Given the description of an element on the screen output the (x, y) to click on. 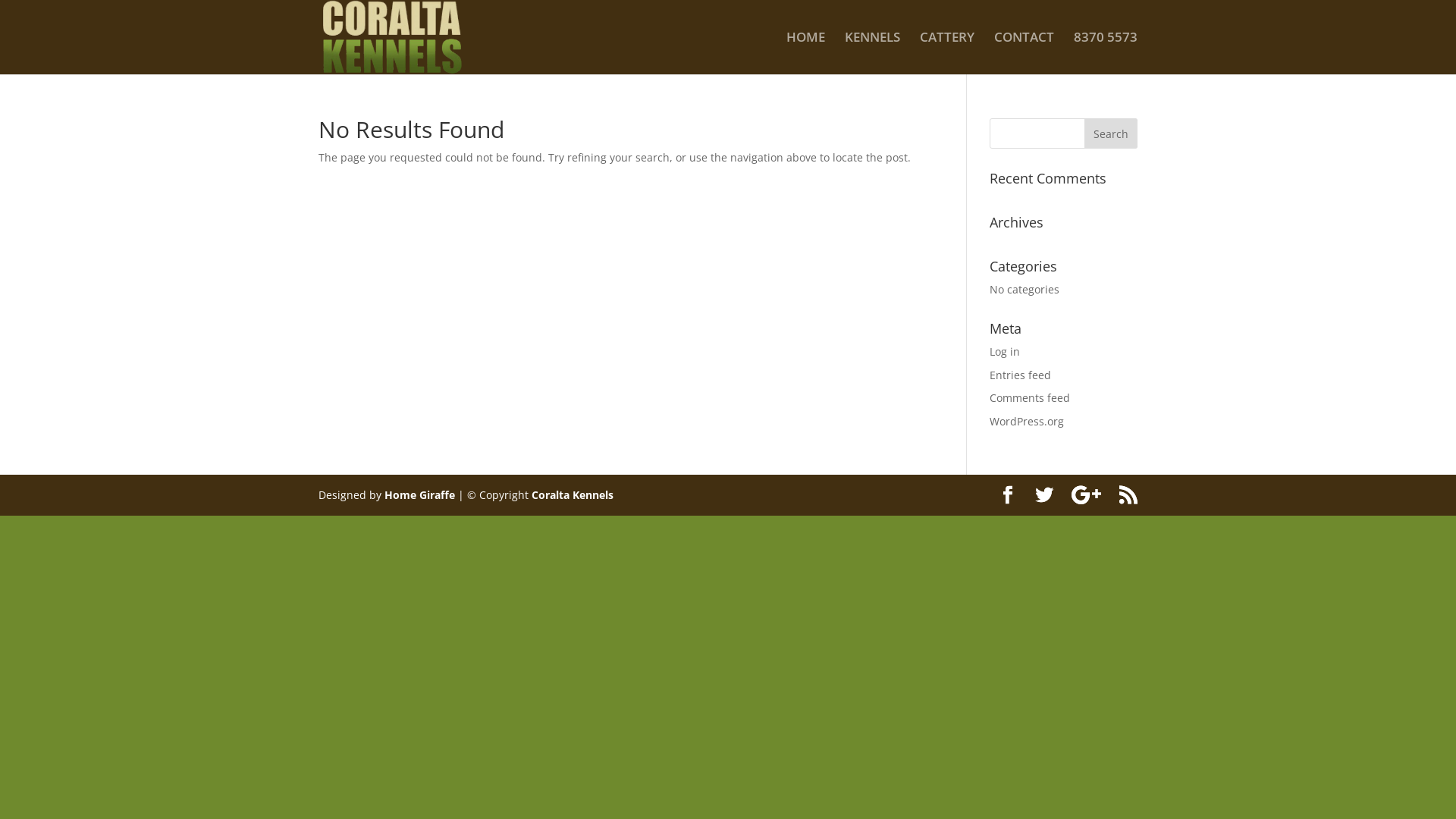
Home Giraffe Element type: text (419, 494)
Search Element type: text (1110, 133)
CONTACT Element type: text (1024, 52)
KENNELS Element type: text (872, 52)
WordPress.org Element type: text (1026, 421)
HOME Element type: text (805, 52)
8370 5573 Element type: text (1105, 52)
Entries feed Element type: text (1020, 374)
CATTERY Element type: text (946, 52)
Log in Element type: text (1004, 351)
Comments feed Element type: text (1029, 397)
Coralta Kennels Element type: text (572, 494)
